Given the description of an element on the screen output the (x, y) to click on. 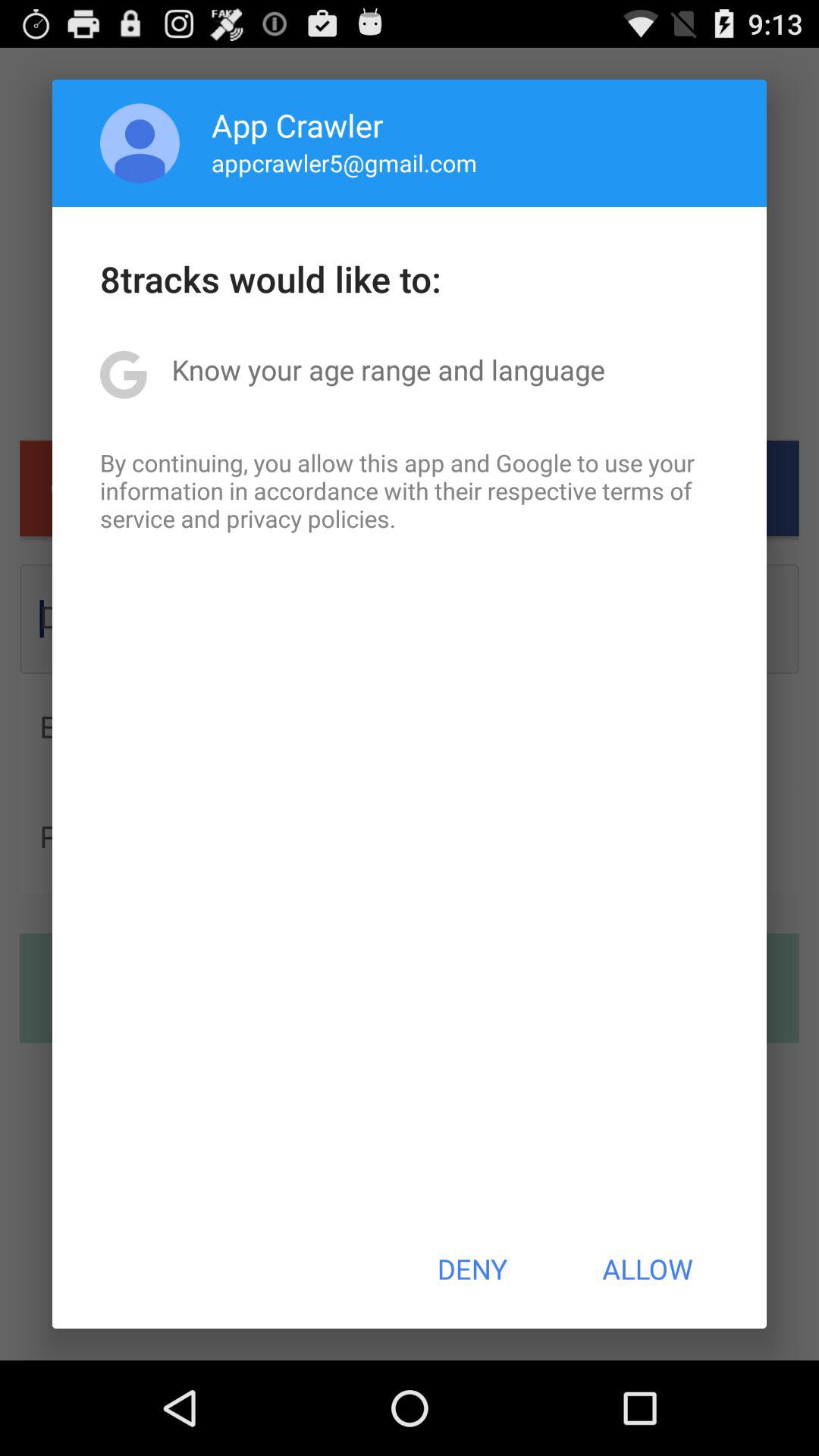
turn off item below the by continuing you app (471, 1268)
